Given the description of an element on the screen output the (x, y) to click on. 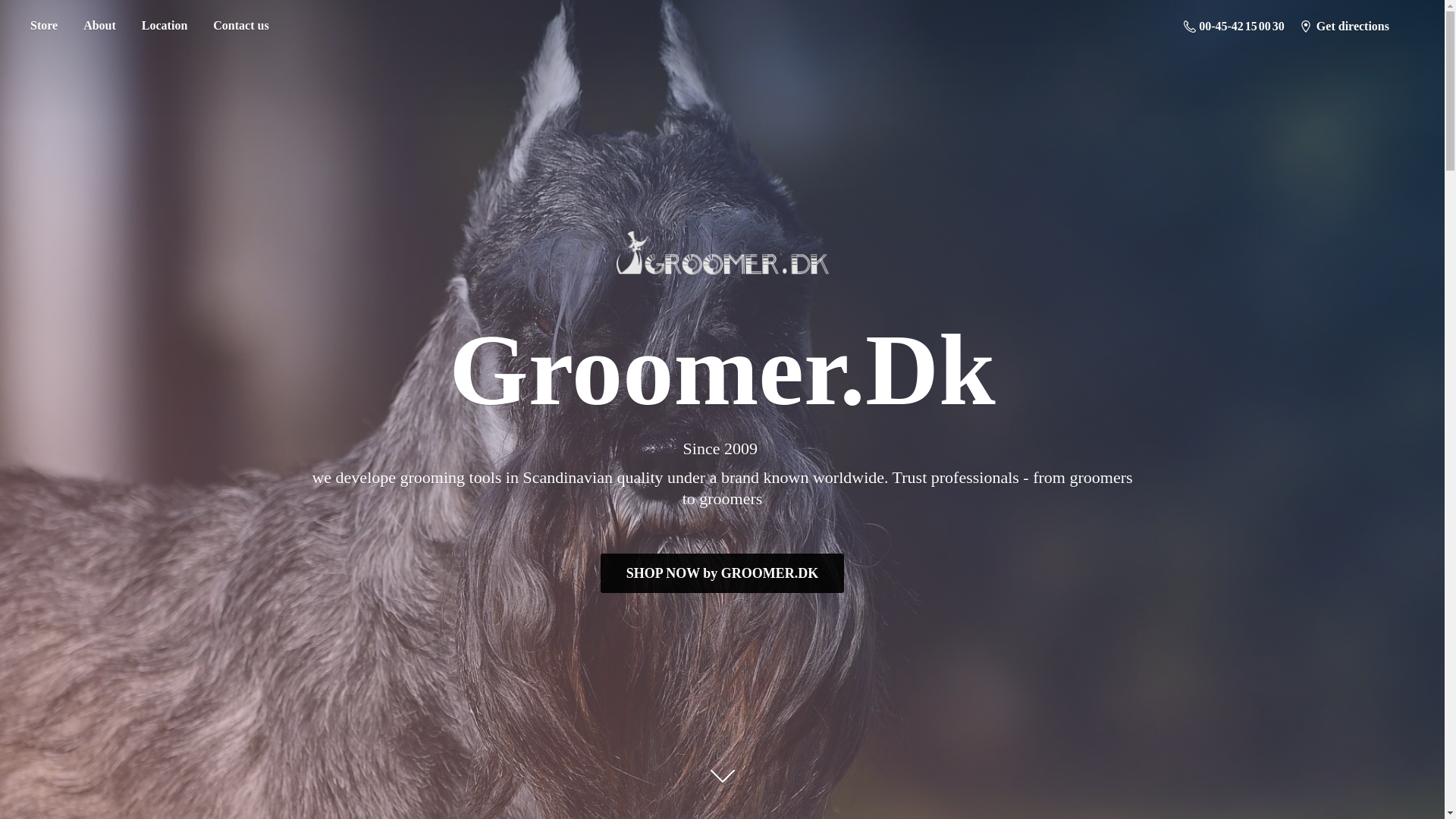
Contact us (240, 25)
Get directions (1344, 26)
About (99, 25)
Location (164, 25)
SHOP NOW by GROOMER.DK (721, 572)
Store (43, 25)
